Given the description of an element on the screen output the (x, y) to click on. 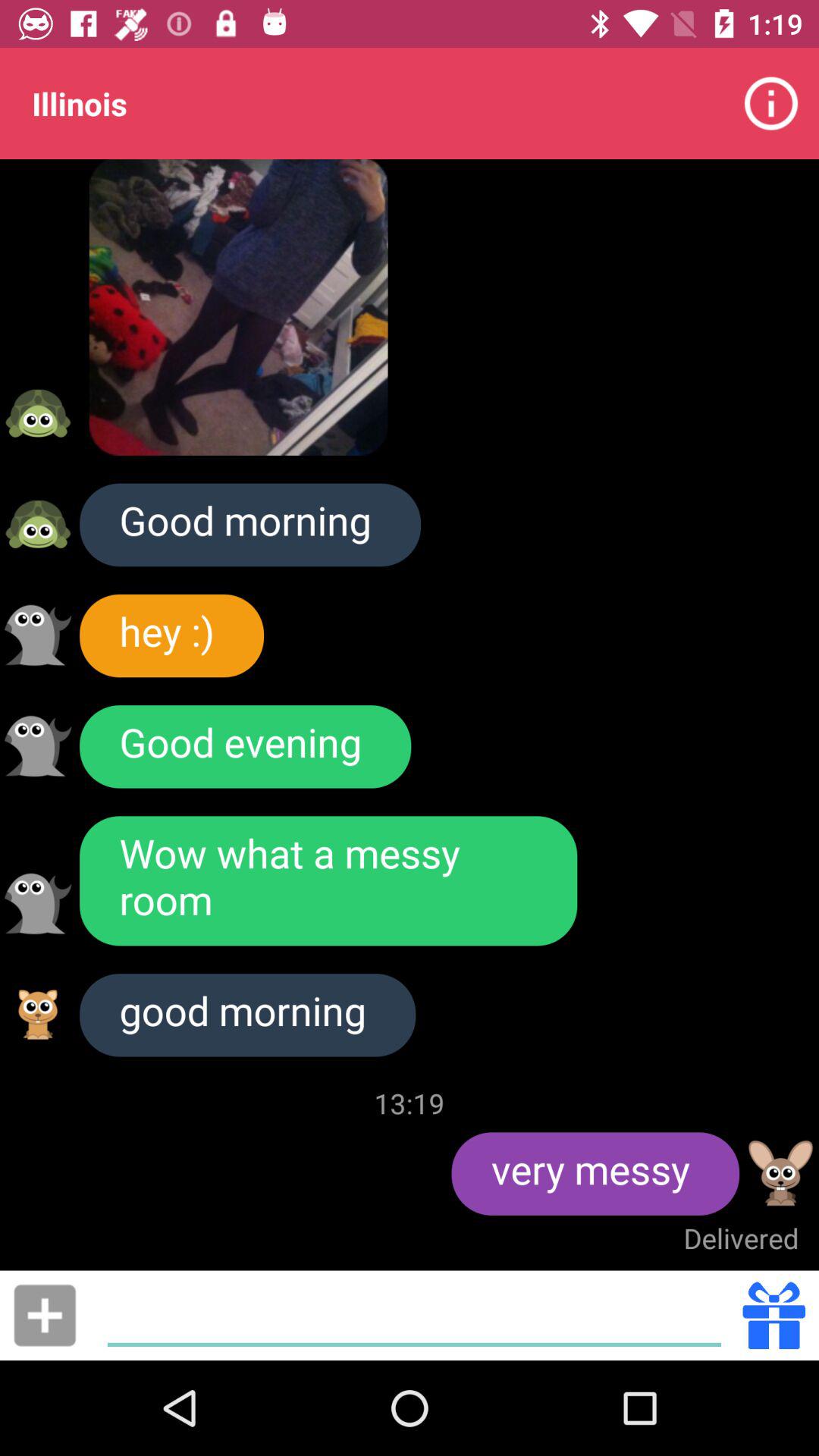
press the item to the right of 13:19 icon (595, 1173)
